Given the description of an element on the screen output the (x, y) to click on. 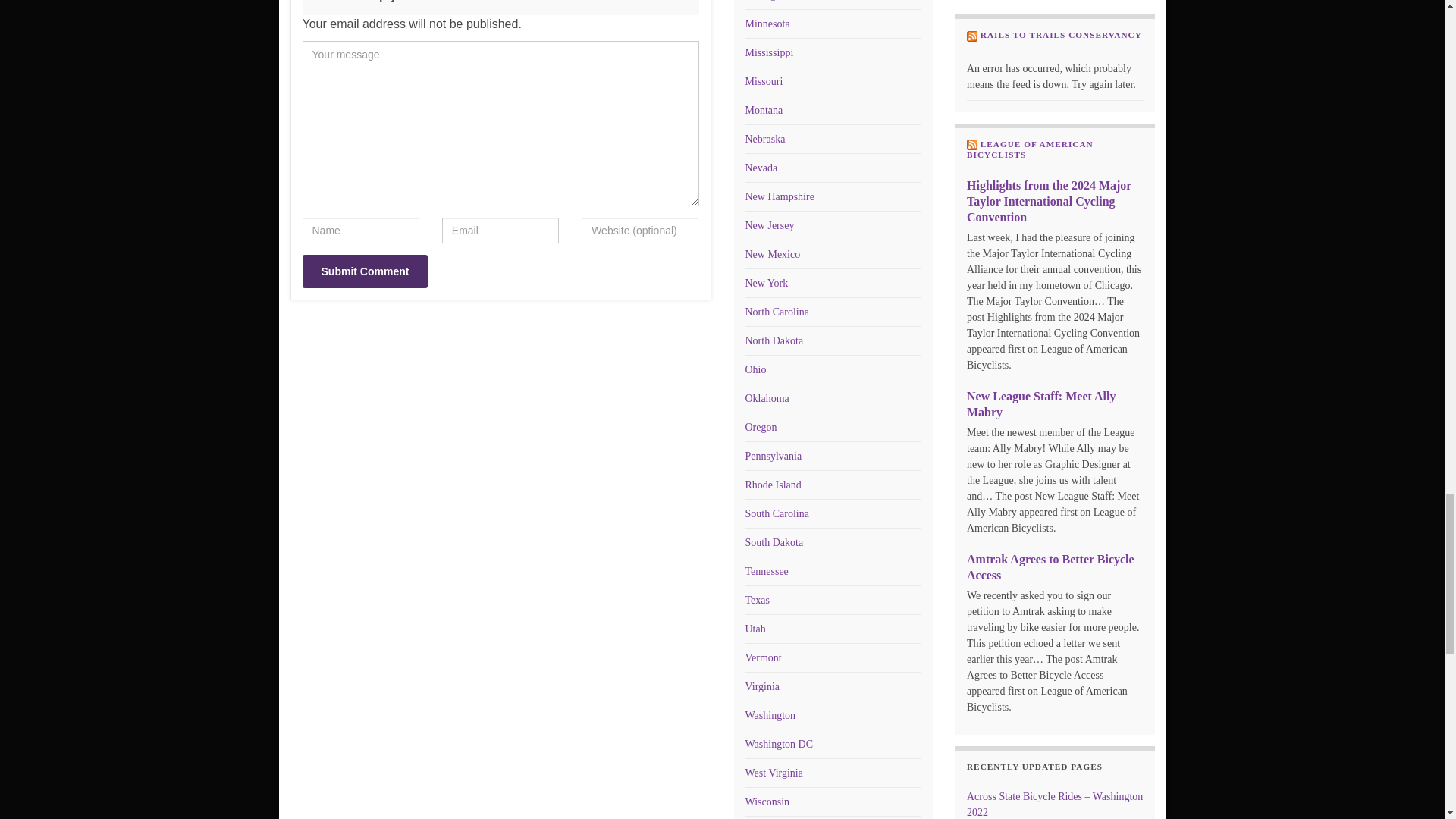
Submit Comment (364, 271)
